Given the description of an element on the screen output the (x, y) to click on. 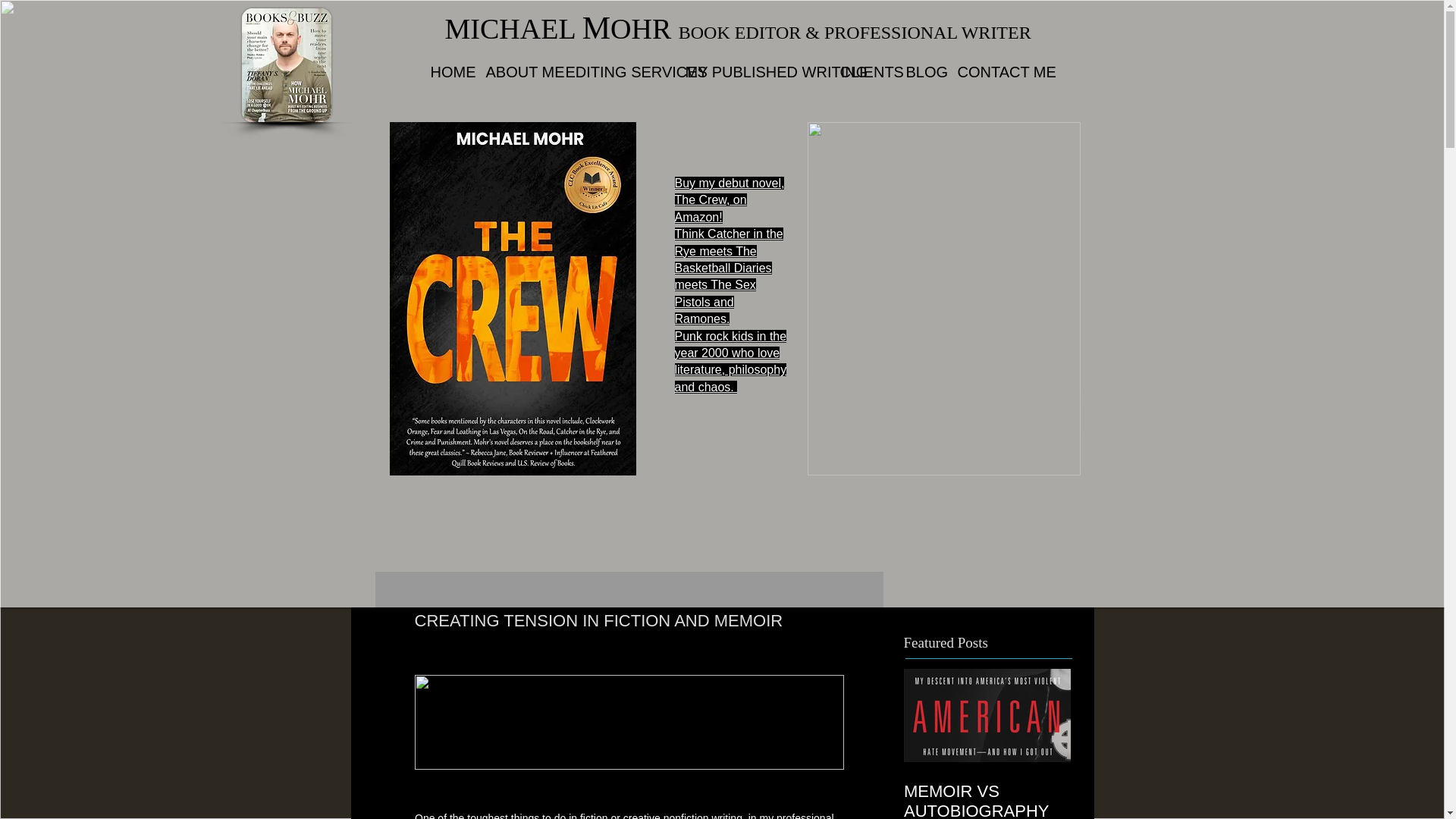
MEMOIR VS AUTOBIOGRAPHY (987, 744)
MY PUBLISHED WRITING (750, 72)
BLOG (920, 72)
MEMOIR VS AUTOBIOGRAPHY (987, 744)
EDITING SERVICES (612, 72)
CONTACT ME (992, 72)
CLIENTS (860, 72)
ABOUT ME (514, 72)
MEMOIR VS AUTOBIOGRAPHY (987, 800)
HOME (446, 72)
